Given the description of an element on the screen output the (x, y) to click on. 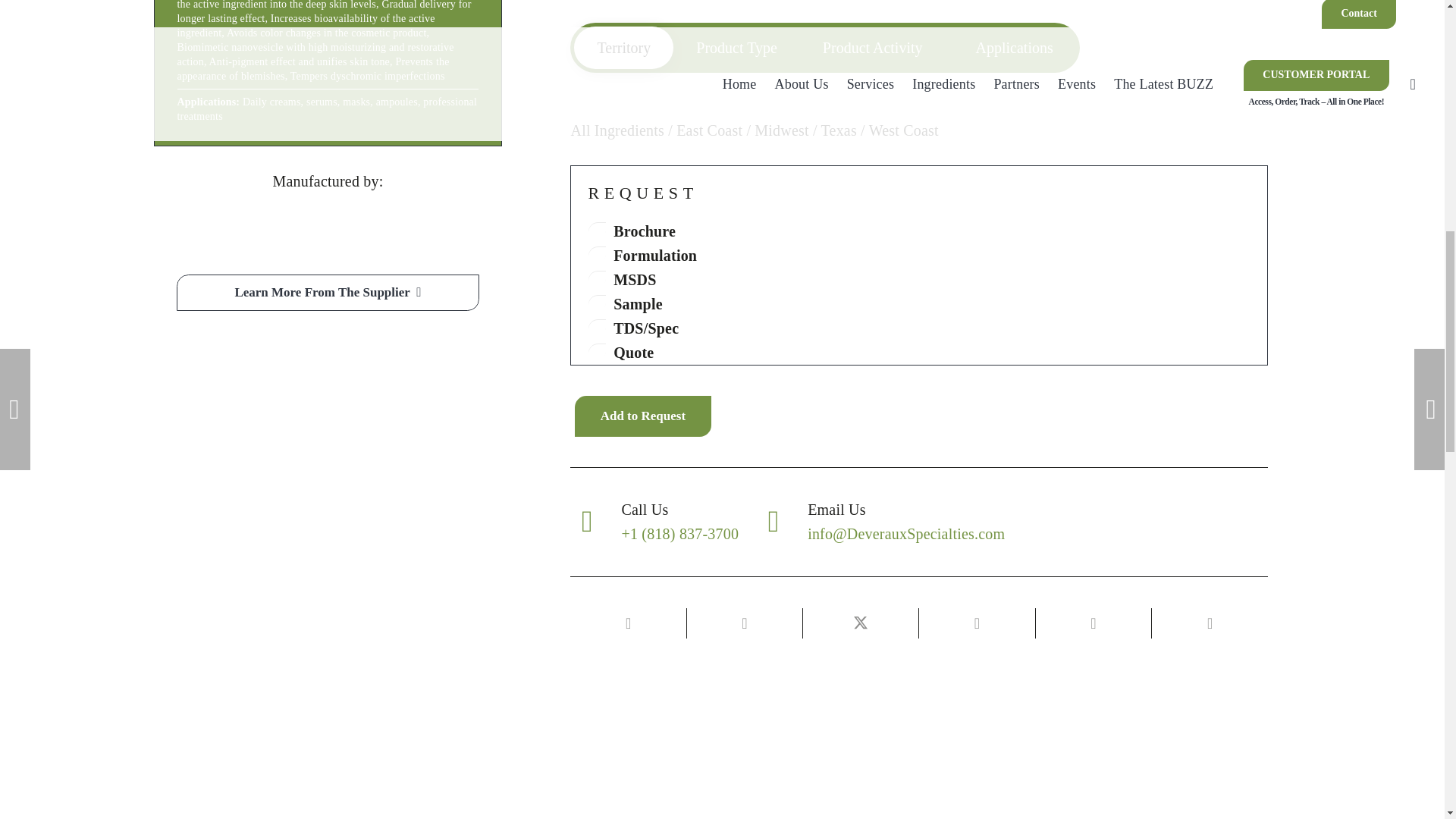
East Coast (709, 130)
quote (597, 352)
Share this (1093, 623)
Share this (745, 623)
Territory (622, 47)
Tweet this (860, 623)
formulation (597, 254)
All Ingredients (616, 130)
Learn More From The Supplier (327, 292)
Texas (839, 130)
